Given the description of an element on the screen output the (x, y) to click on. 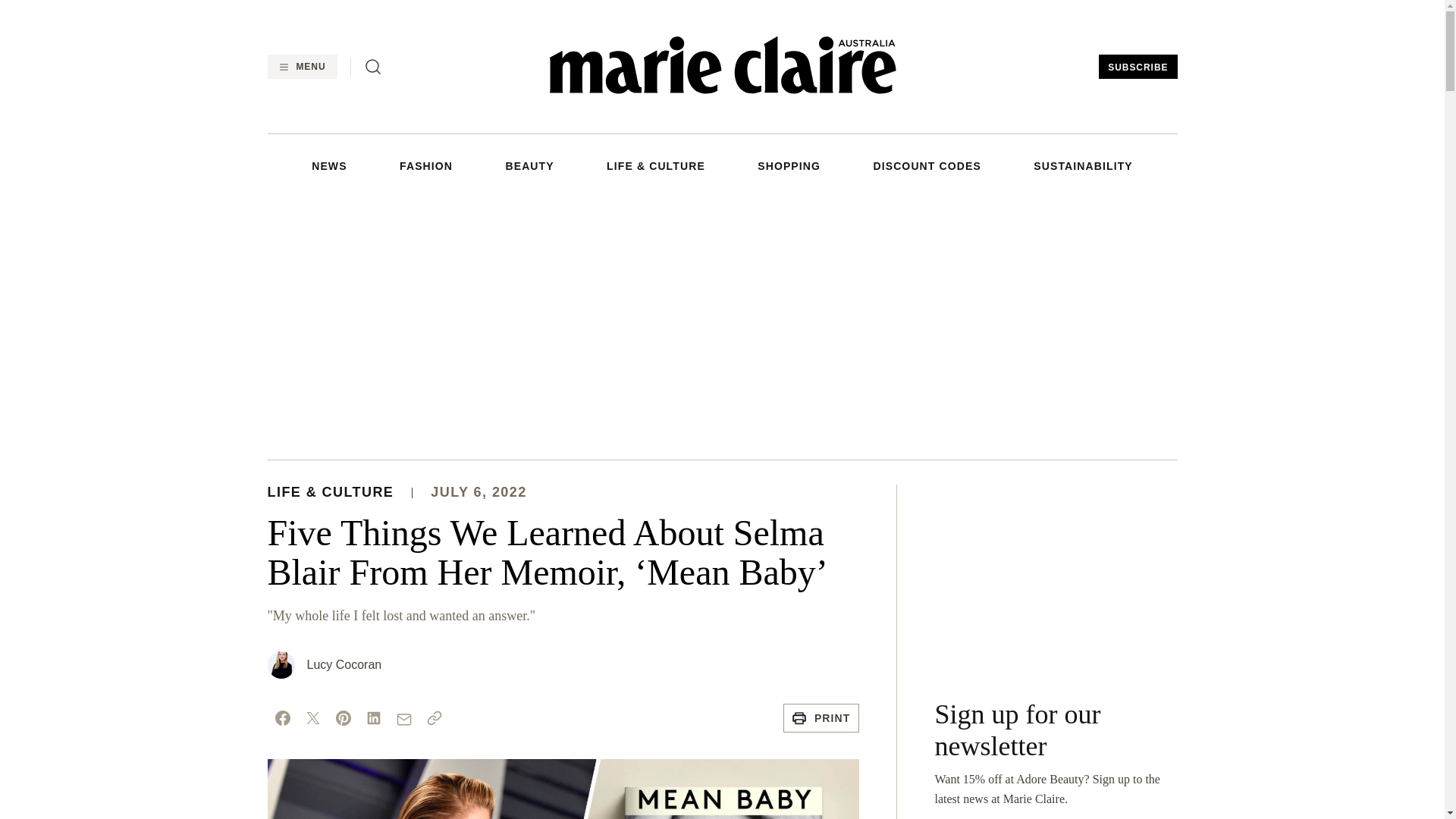
3rd party ad content (1055, 579)
BEAUTY (529, 165)
SUSTAINABILITY (1082, 165)
NEWS (328, 165)
SUBSCRIBE (1137, 66)
DISCOUNT CODES (925, 165)
3rd party ad content (721, 325)
MENU (301, 66)
FASHION (425, 165)
SHOPPING (789, 165)
